Given the description of an element on the screen output the (x, y) to click on. 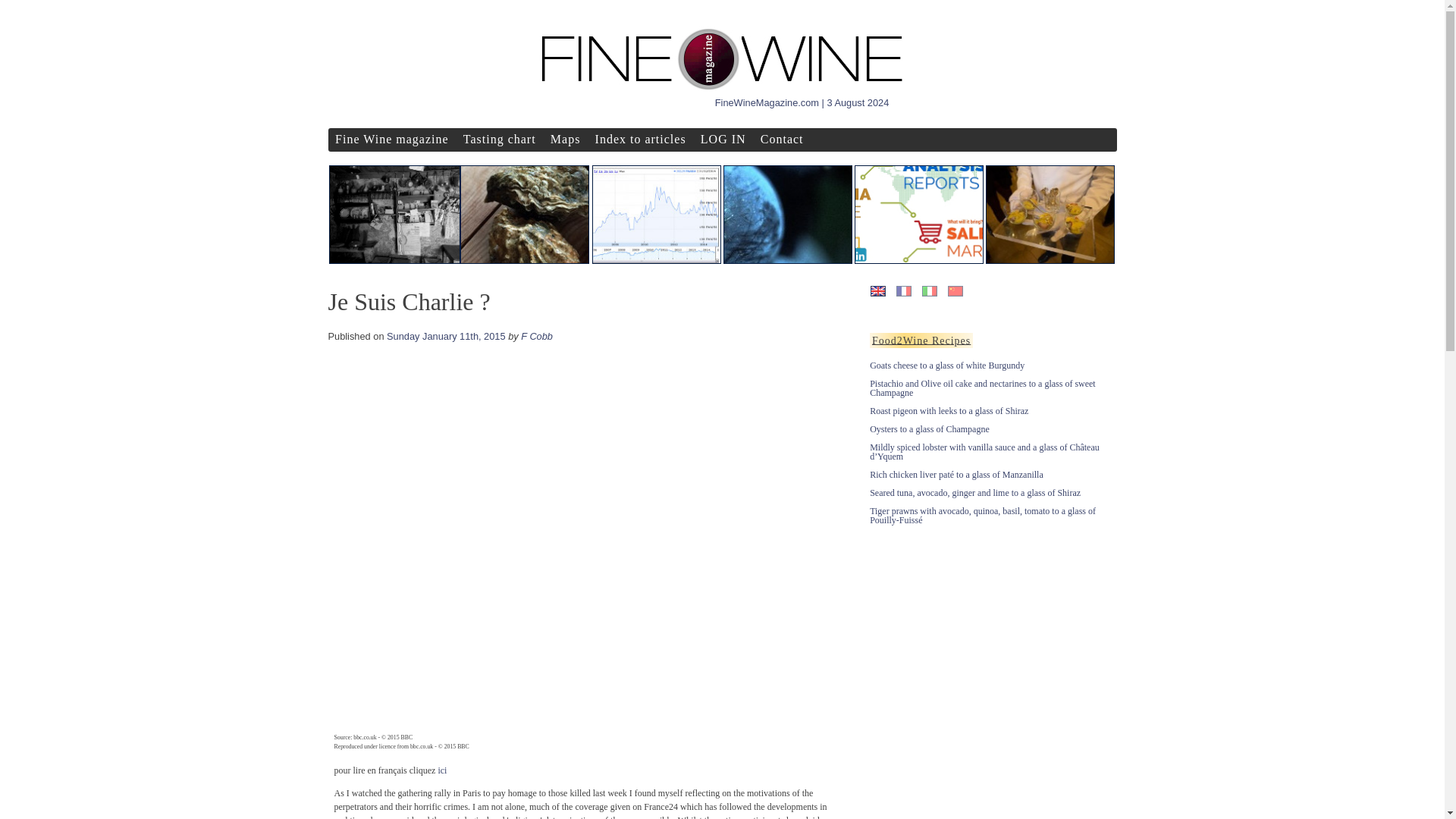
Skip to content (334, 131)
Skip to content (334, 274)
Tasting chart (499, 138)
Index to articles (640, 138)
LOG IN (722, 138)
Contact (781, 138)
Maps (565, 138)
F Cobb (537, 336)
Sunday January 11th, 2015 (446, 336)
Fine Wine magazine (391, 138)
